Given the description of an element on the screen output the (x, y) to click on. 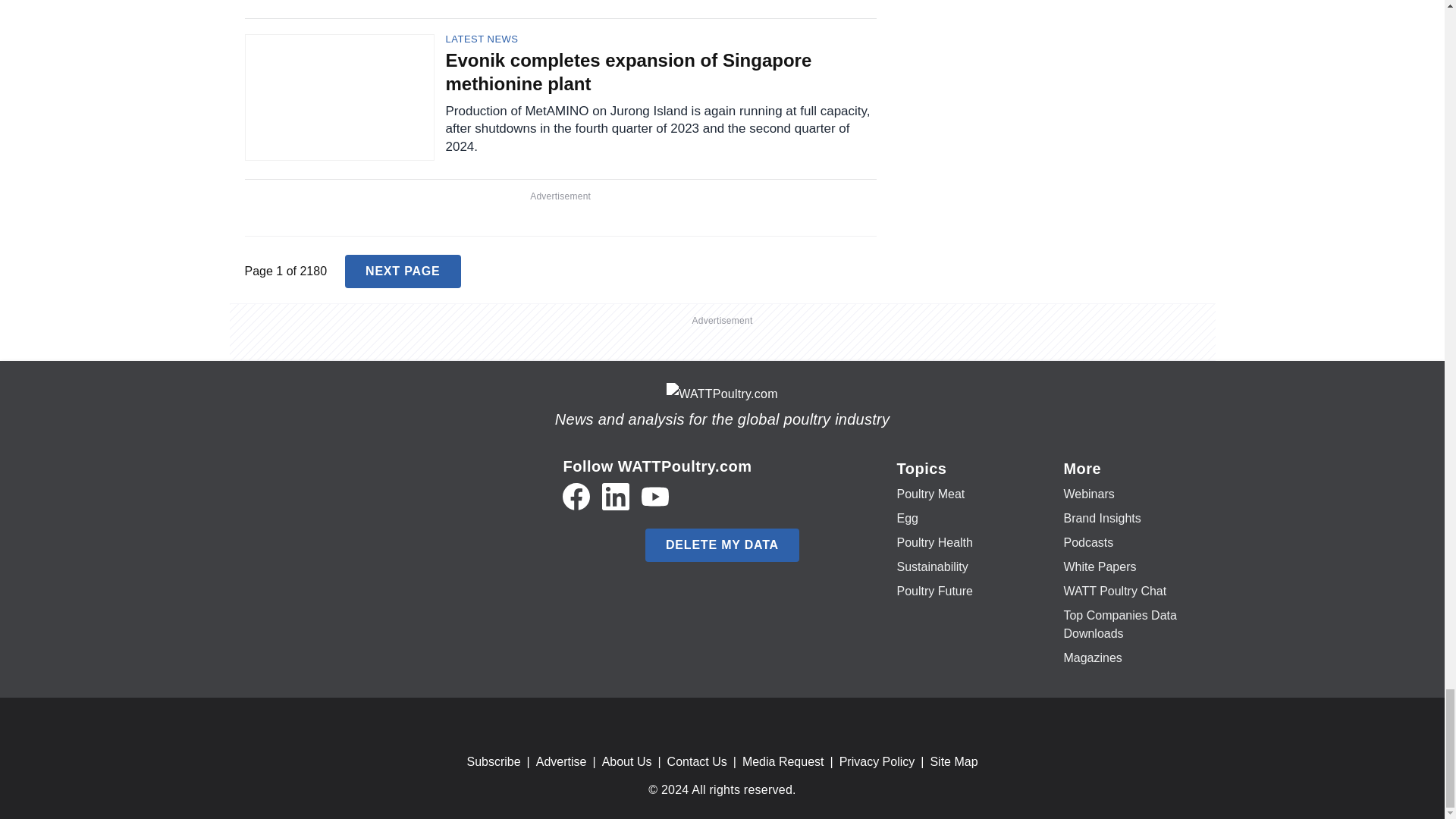
LinkedIn icon (615, 496)
YouTube icon (655, 496)
Facebook icon (575, 496)
